Given the description of an element on the screen output the (x, y) to click on. 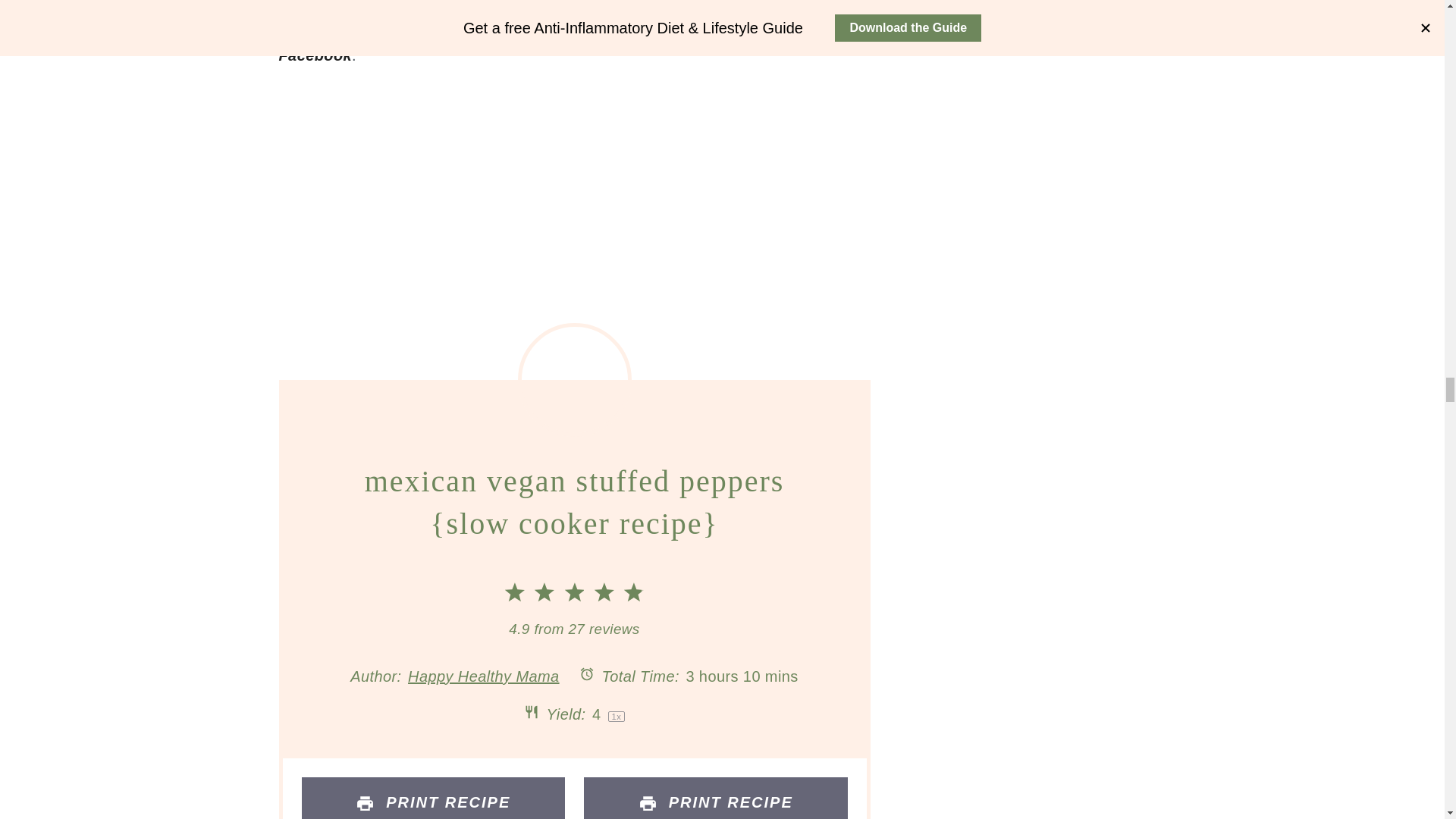
Facebook (315, 54)
Instagram (727, 27)
